Given the description of an element on the screen output the (x, y) to click on. 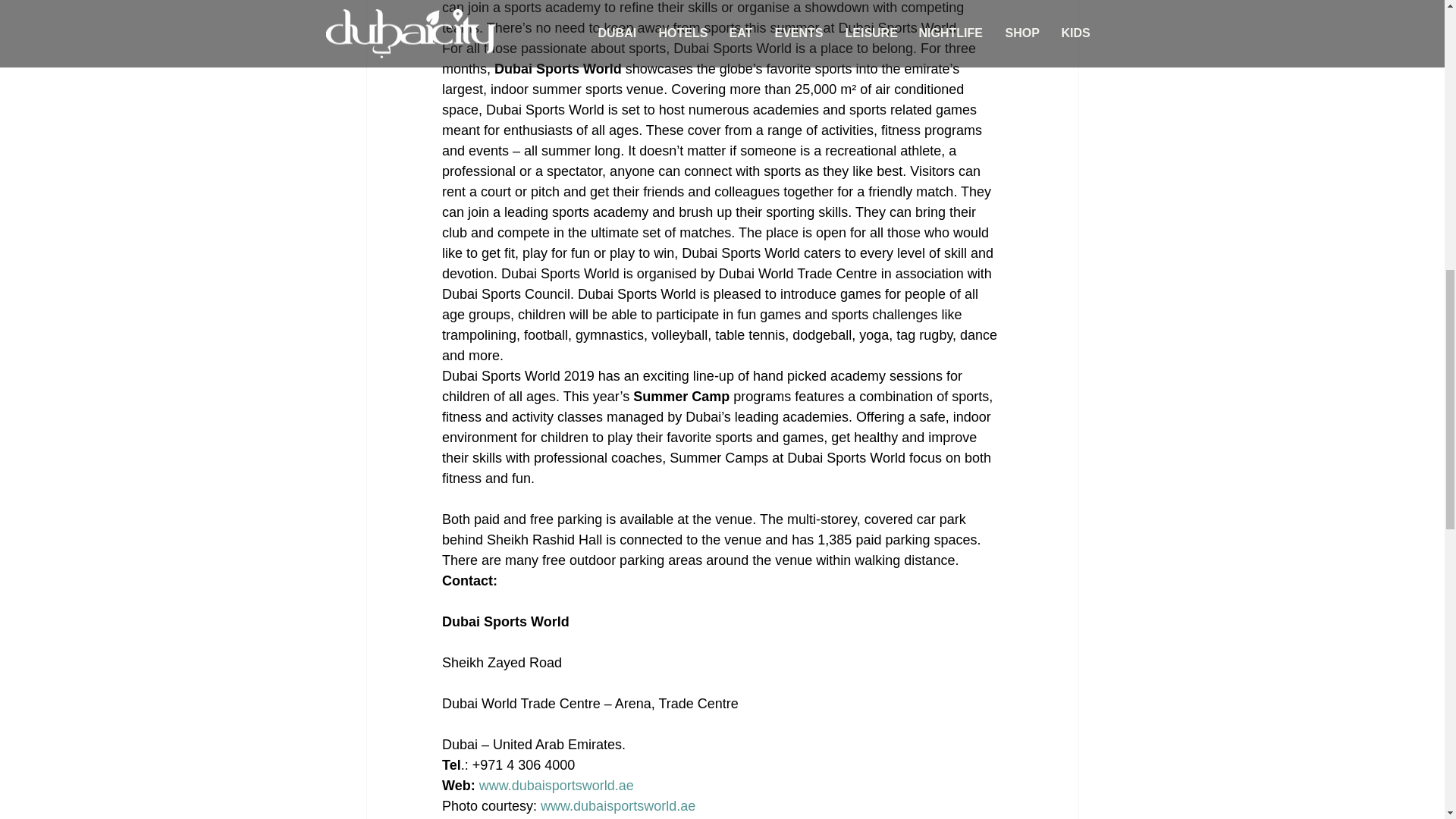
www.dubaisportsworld.ae (556, 785)
www.dubaisportsworld.ae (617, 806)
